Given the description of an element on the screen output the (x, y) to click on. 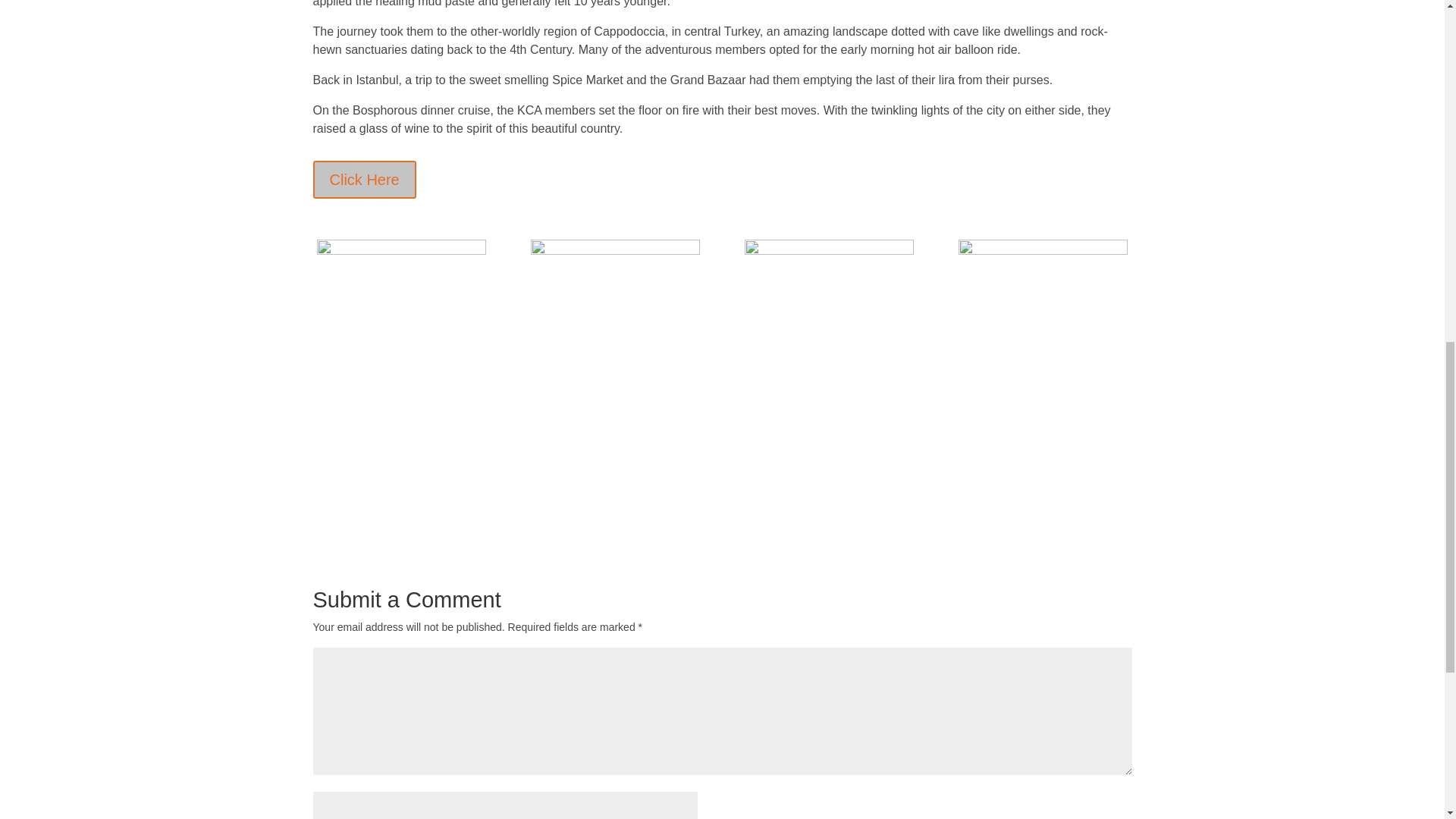
Click Here (363, 179)
